Given the description of an element on the screen output the (x, y) to click on. 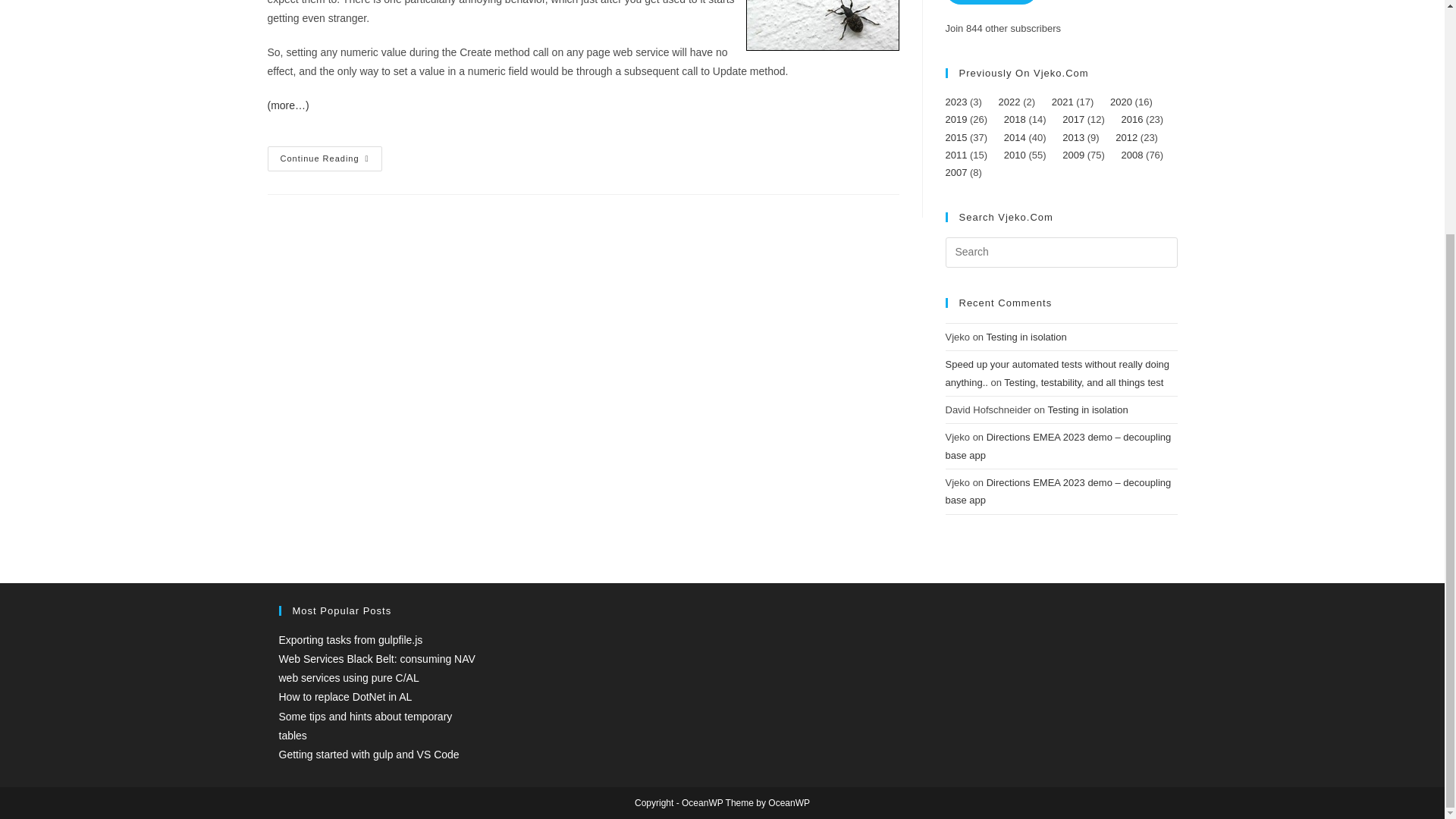
2021 (1062, 101)
2015 (955, 137)
2016 (1131, 119)
2018 (1015, 119)
2022 (1009, 101)
2019 (955, 119)
2017 (1073, 119)
SUBSCRIBE (990, 2)
2023 (955, 101)
bugorfeature (822, 25)
2020 (1120, 101)
2013 (323, 157)
2014 (1073, 137)
